Given the description of an element on the screen output the (x, y) to click on. 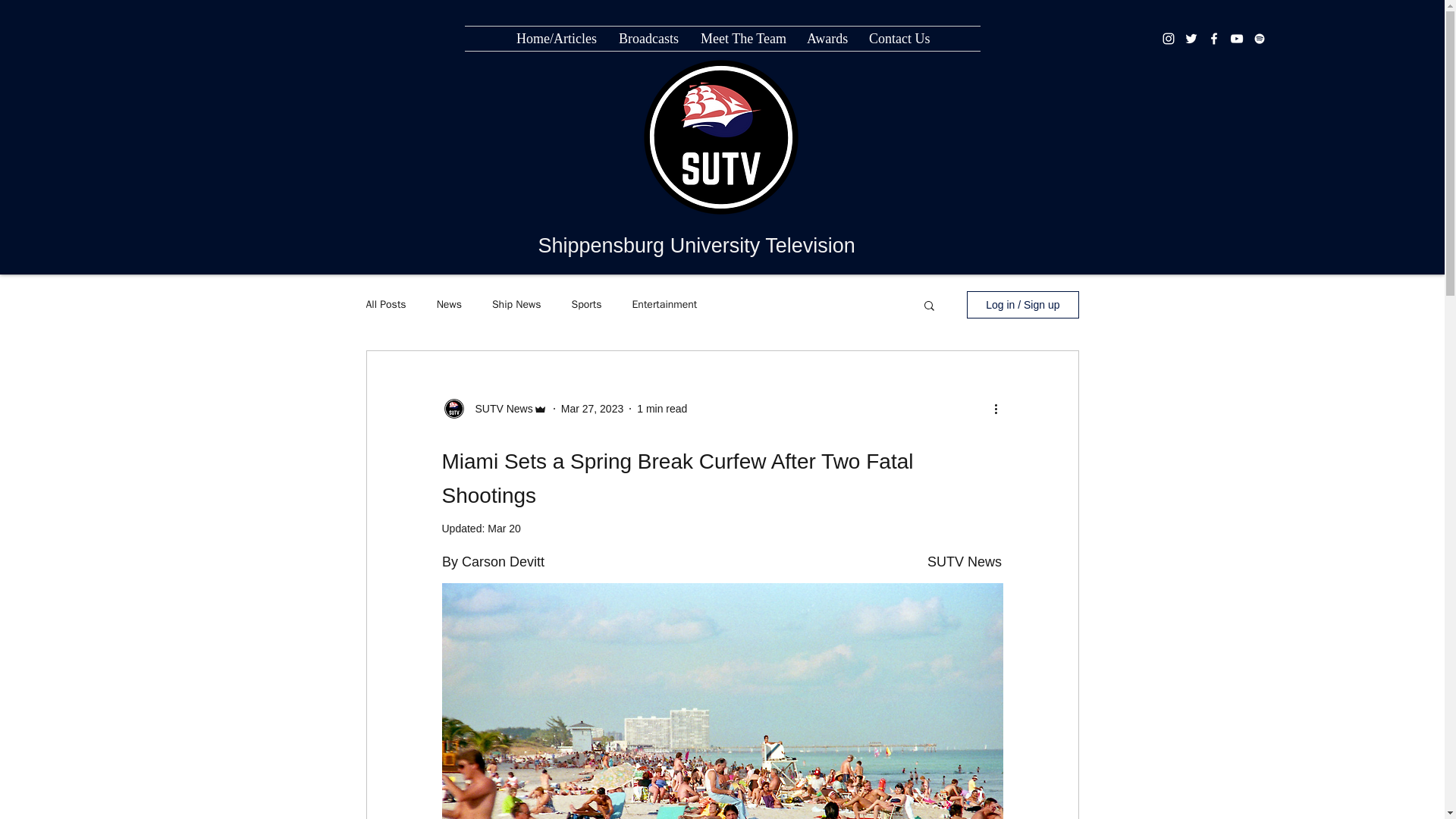
Awards (825, 38)
Ship News (516, 305)
News (448, 305)
All Posts (385, 305)
Mar 27, 2023 (592, 408)
Contact Us (898, 38)
Sports (587, 305)
Entertainment (664, 305)
Meet The Team (741, 38)
SUTV News (498, 408)
Mar 20 (504, 528)
Broadcasts (647, 38)
1 min read (662, 408)
